Given the description of an element on the screen output the (x, y) to click on. 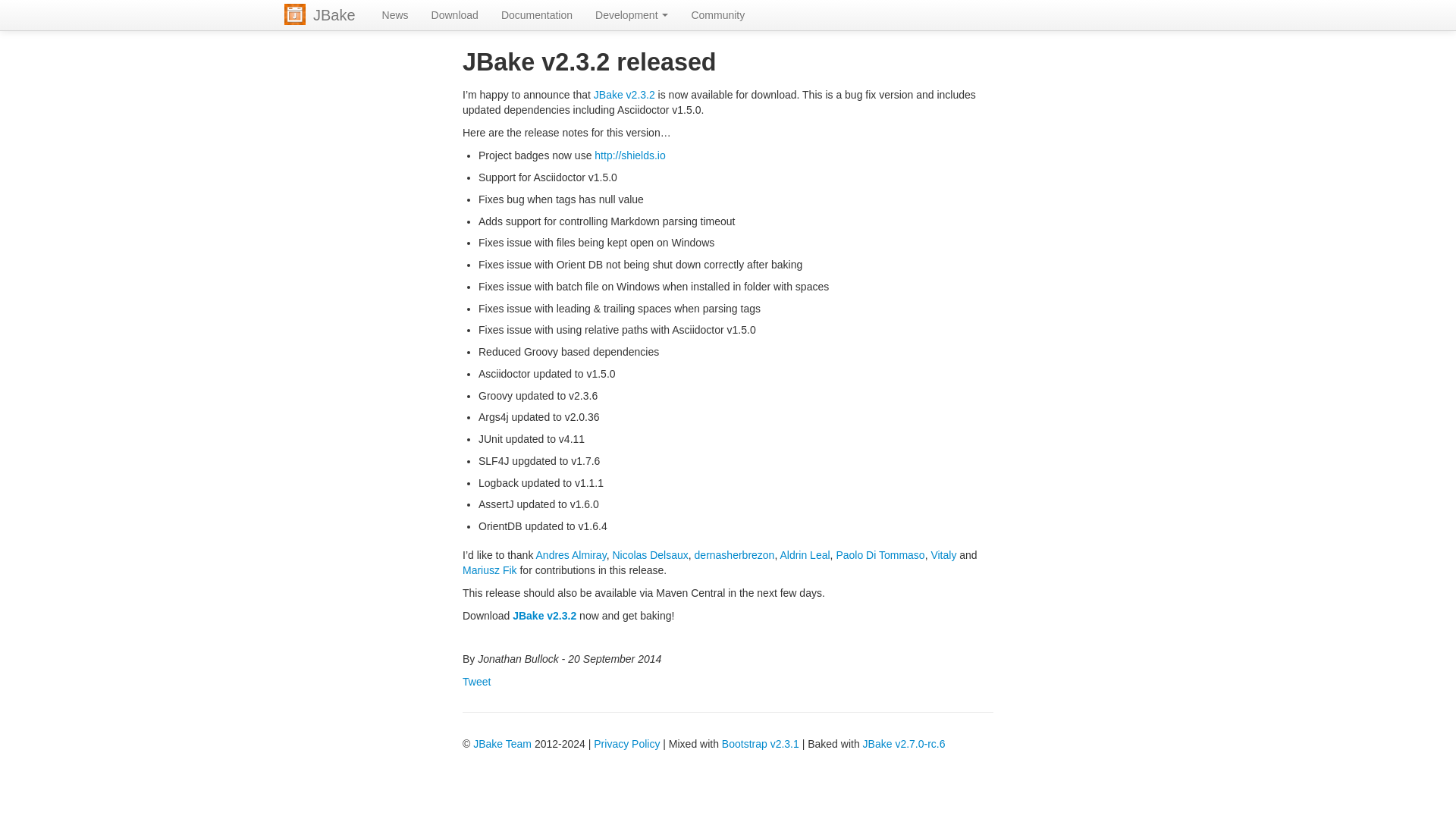
JBake Team (502, 743)
JBake v2.3.2 (624, 94)
Development (631, 15)
Community (717, 15)
JBake (334, 15)
Paolo Di Tommaso (879, 554)
dernasherbrezon (734, 554)
JBake v2.3.2 (544, 615)
Privacy Policy (626, 743)
Vitaly (943, 554)
News (395, 15)
Tweet (476, 681)
JBake v2.7.0-rc.6 (903, 743)
Documentation (536, 15)
Bootstrap v2.3.1 (760, 743)
